Given the description of an element on the screen output the (x, y) to click on. 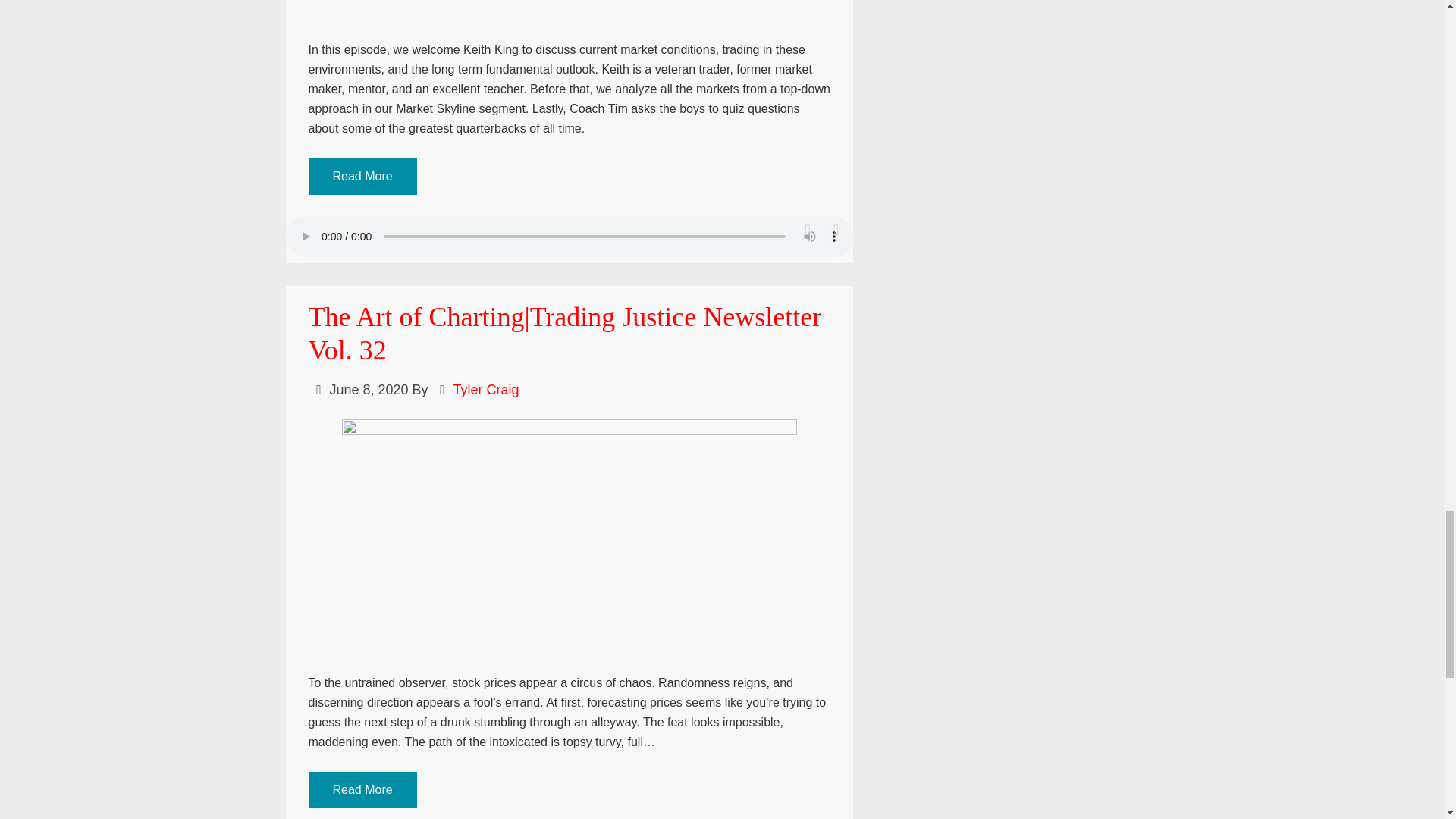
Read More (361, 176)
Download (836, 229)
Read More (361, 175)
Play in New Window (807, 229)
